Given the description of an element on the screen output the (x, y) to click on. 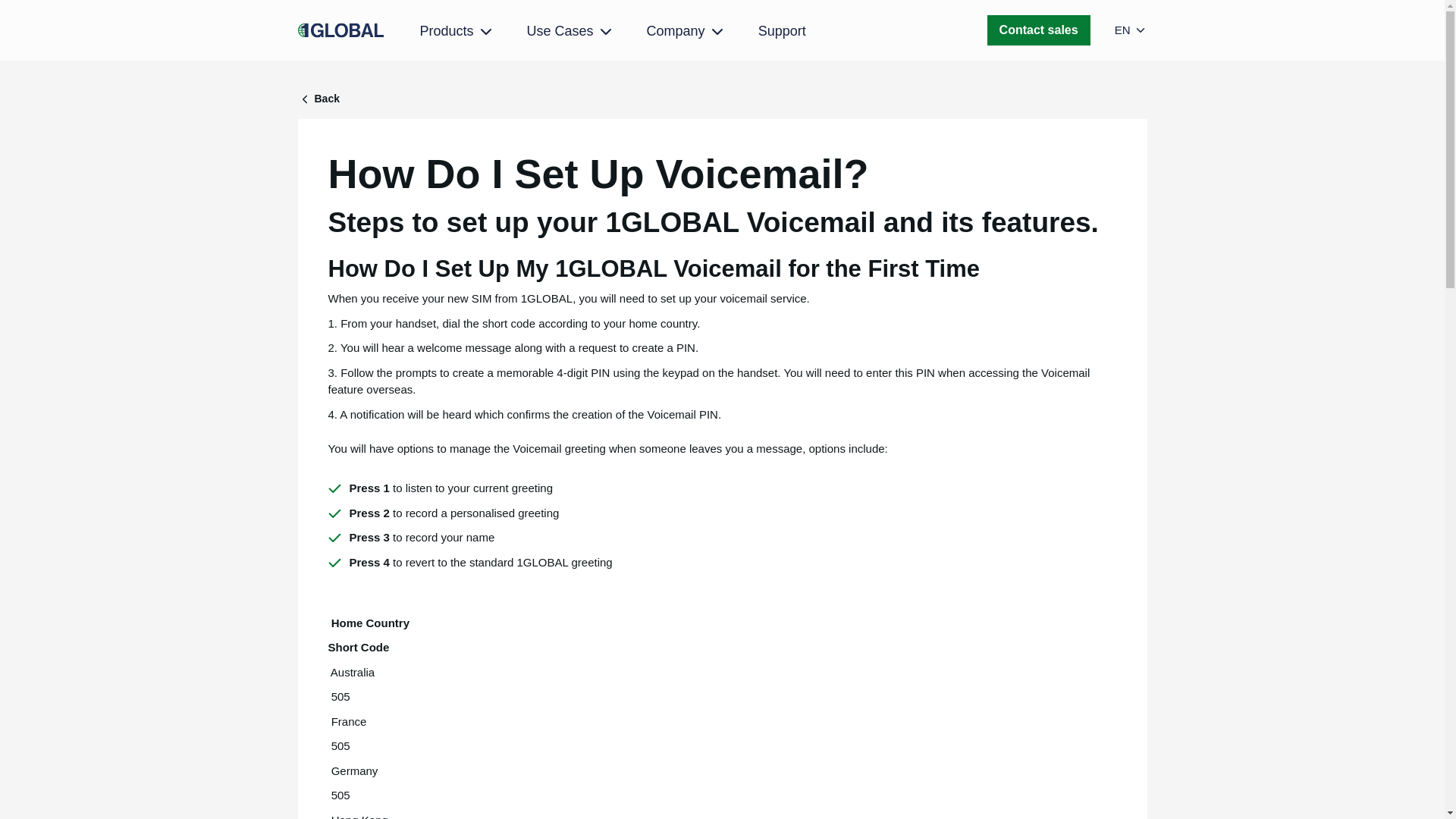
Products (457, 31)
Contact sales (1038, 30)
EN (1131, 30)
Support (782, 30)
Back (722, 98)
Company (686, 31)
Support (782, 30)
Use Cases (570, 31)
